Given the description of an element on the screen output the (x, y) to click on. 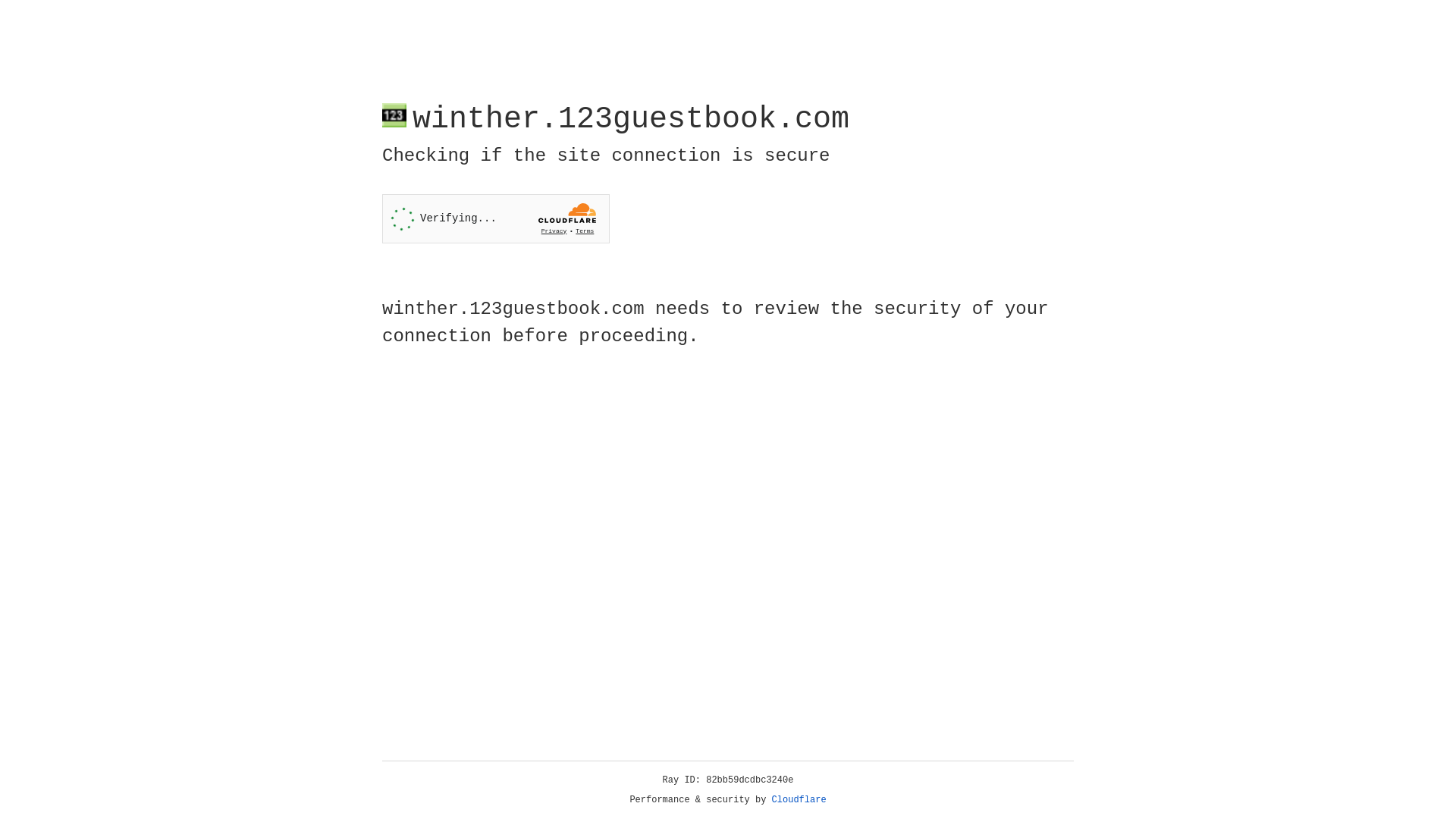
Cloudflare Element type: text (798, 799)
Widget containing a Cloudflare security challenge Element type: hover (495, 218)
